Given the description of an element on the screen output the (x, y) to click on. 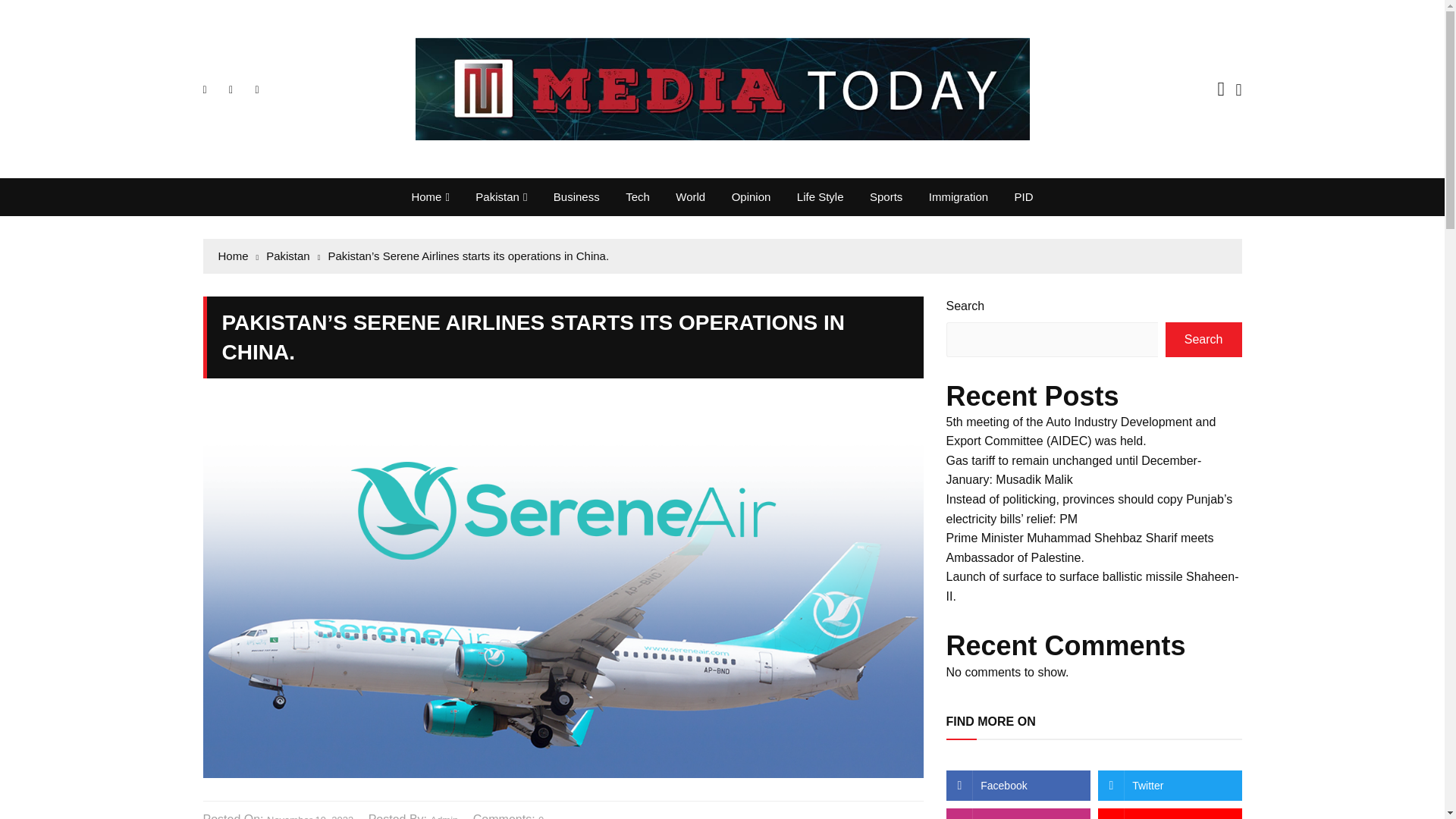
World (689, 197)
Immigration (957, 197)
Tech (637, 197)
Life Style (821, 197)
Business (576, 197)
Home (429, 197)
PID (1024, 197)
Opinion (751, 197)
Sports (886, 197)
Pakistan (501, 197)
